Given the description of an element on the screen output the (x, y) to click on. 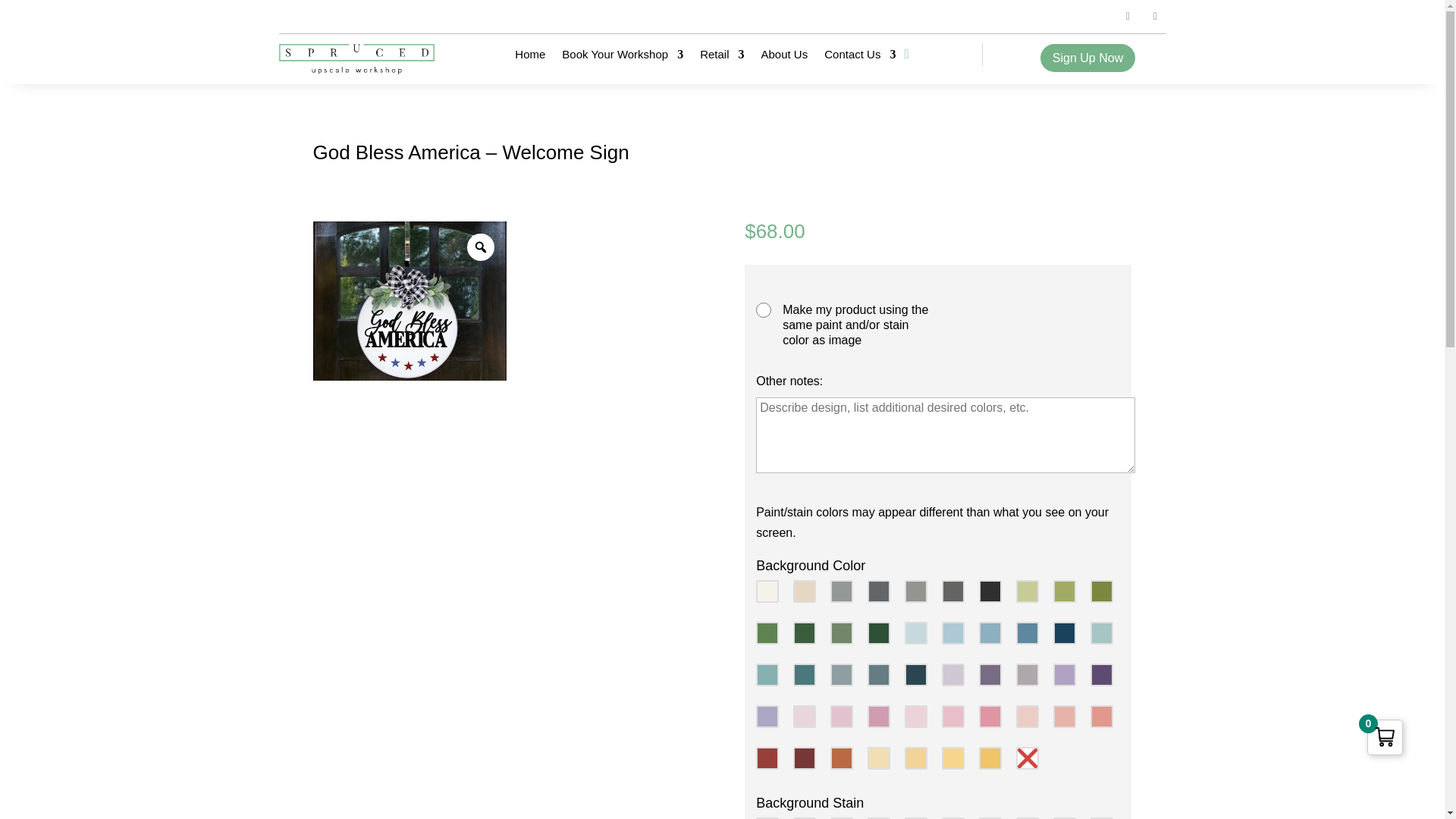
16 Round God Bless America (409, 300)
Retail (722, 57)
Home (529, 57)
About Us (784, 57)
logo (357, 59)
Follow on Instagram (1155, 16)
Contact Us (859, 57)
Book Your Workshop (622, 57)
Follow on Facebook (1128, 16)
